Given the description of an element on the screen output the (x, y) to click on. 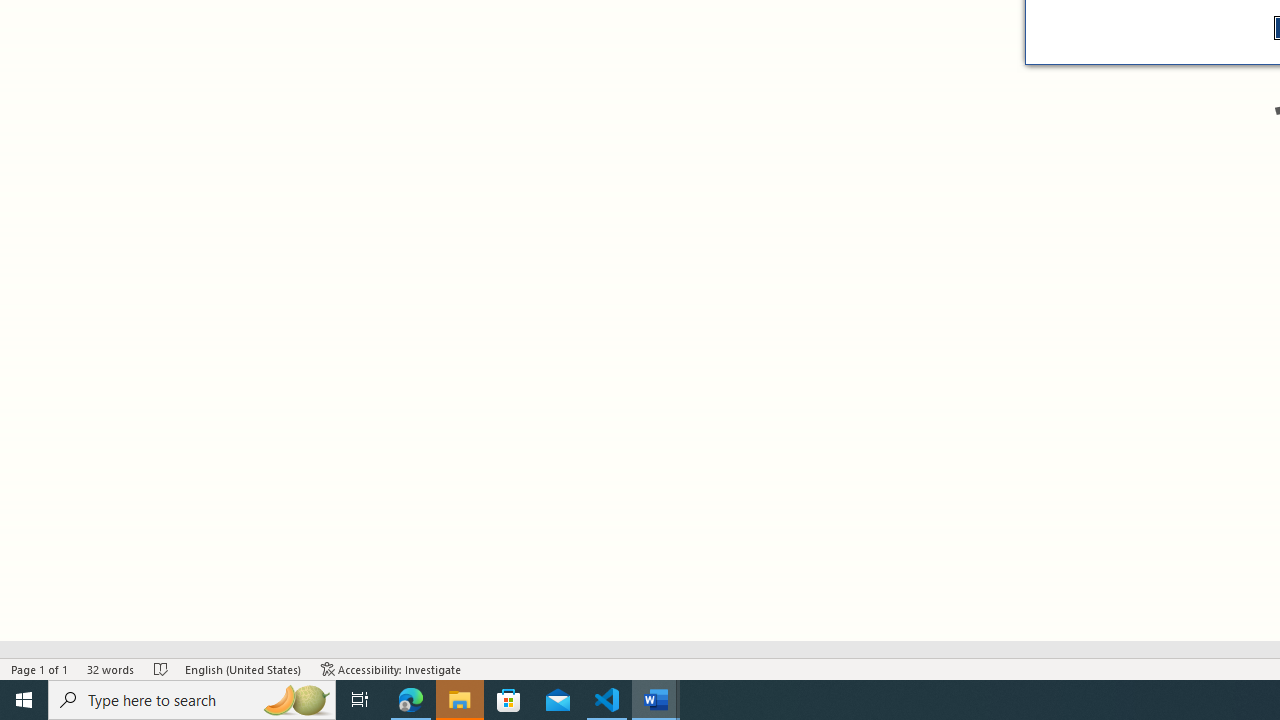
Microsoft Edge - 1 running window (411, 699)
Word Count 32 words (111, 668)
Spelling and Grammar Check No Errors (161, 668)
Word - 2 running windows (656, 699)
File Explorer - 1 running window (460, 699)
Page Number Page 1 of 1 (39, 668)
